Given the description of an element on the screen output the (x, y) to click on. 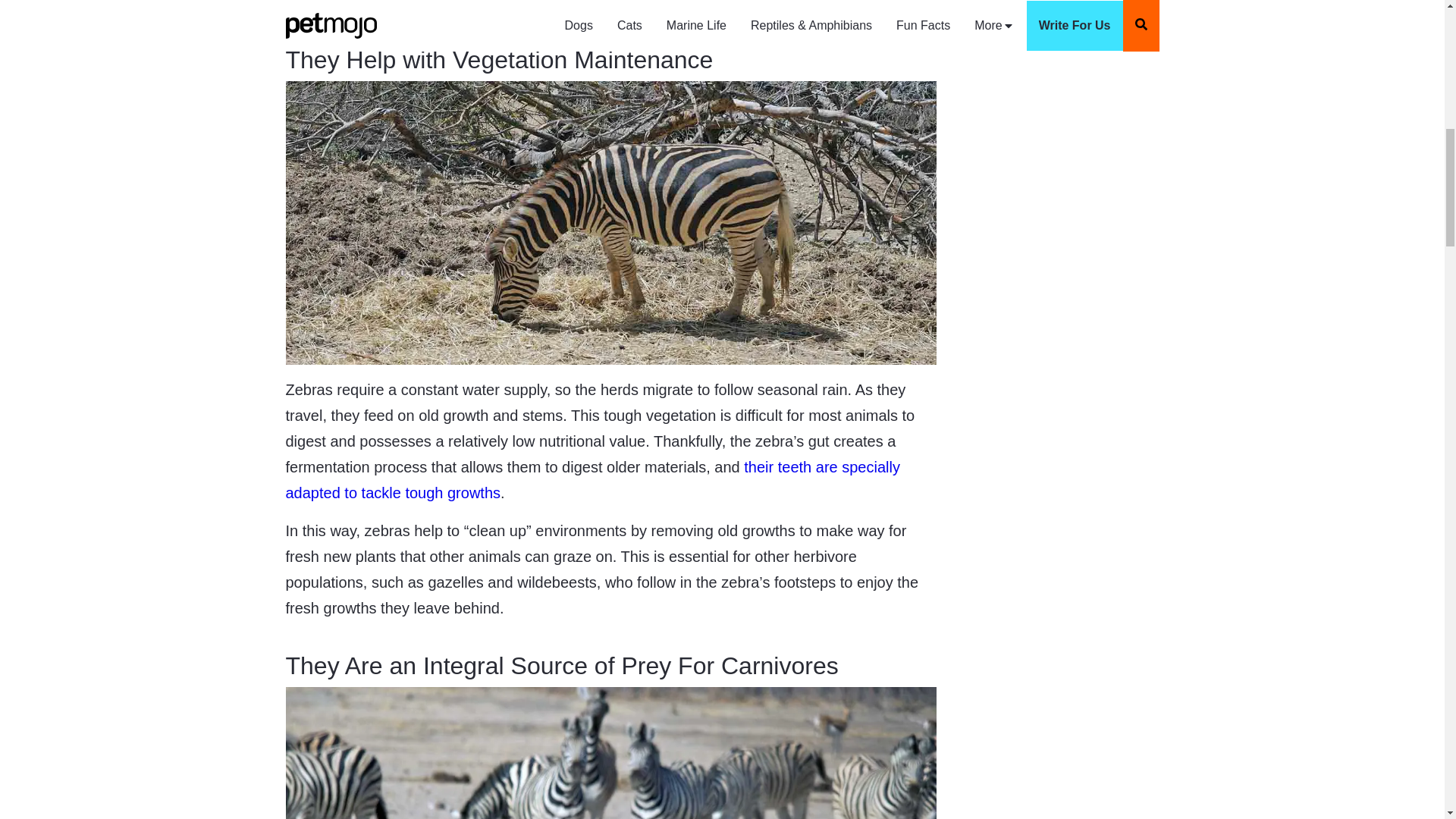
their teeth are specially adapted to tackle tough growths (592, 479)
